Given the description of an element on the screen output the (x, y) to click on. 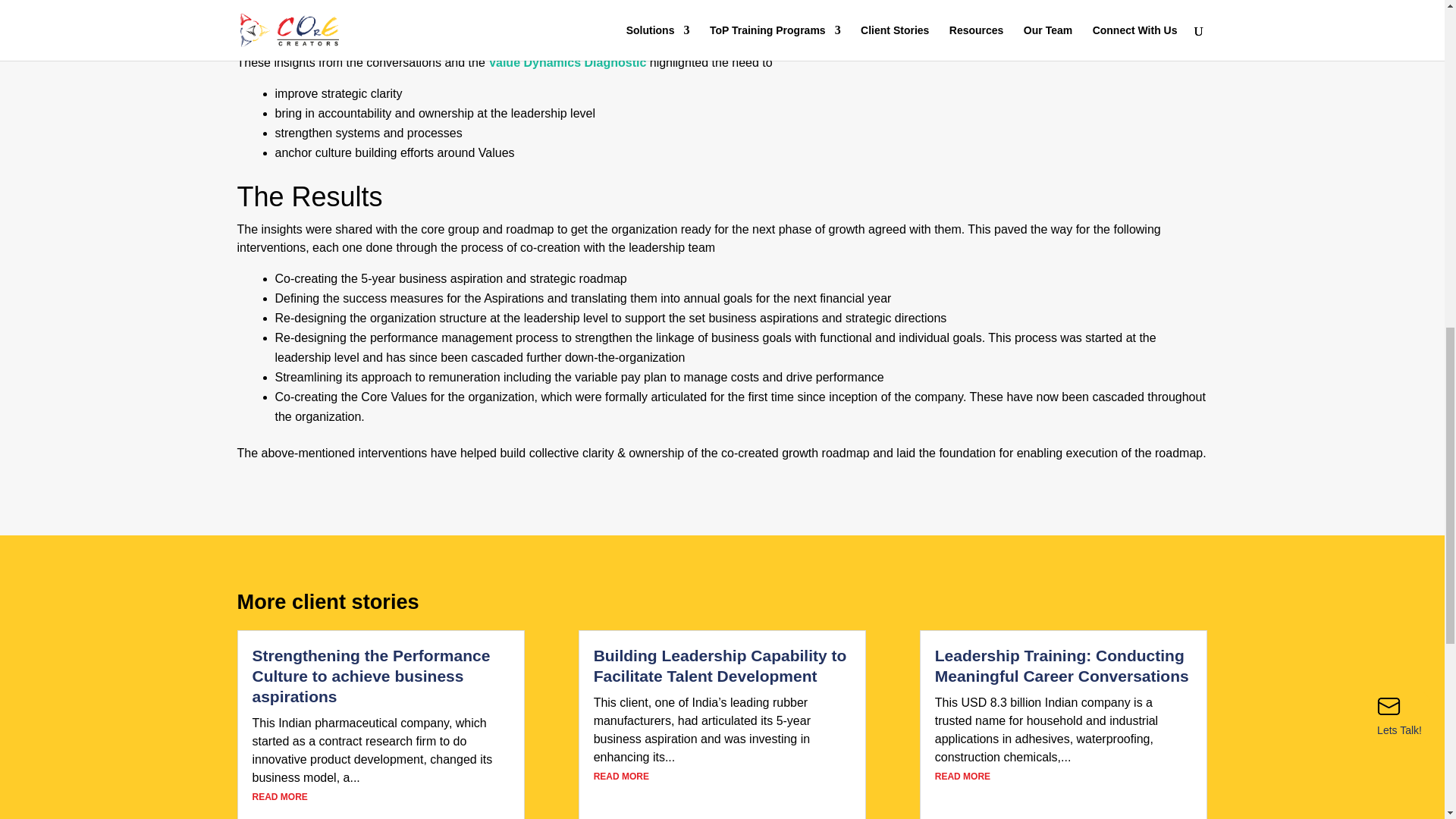
Value Dynamics Diagnostic (989, 25)
READ MORE (279, 796)
Value Dynamics Diagnostic (566, 62)
READ MORE (621, 776)
